Given the description of an element on the screen output the (x, y) to click on. 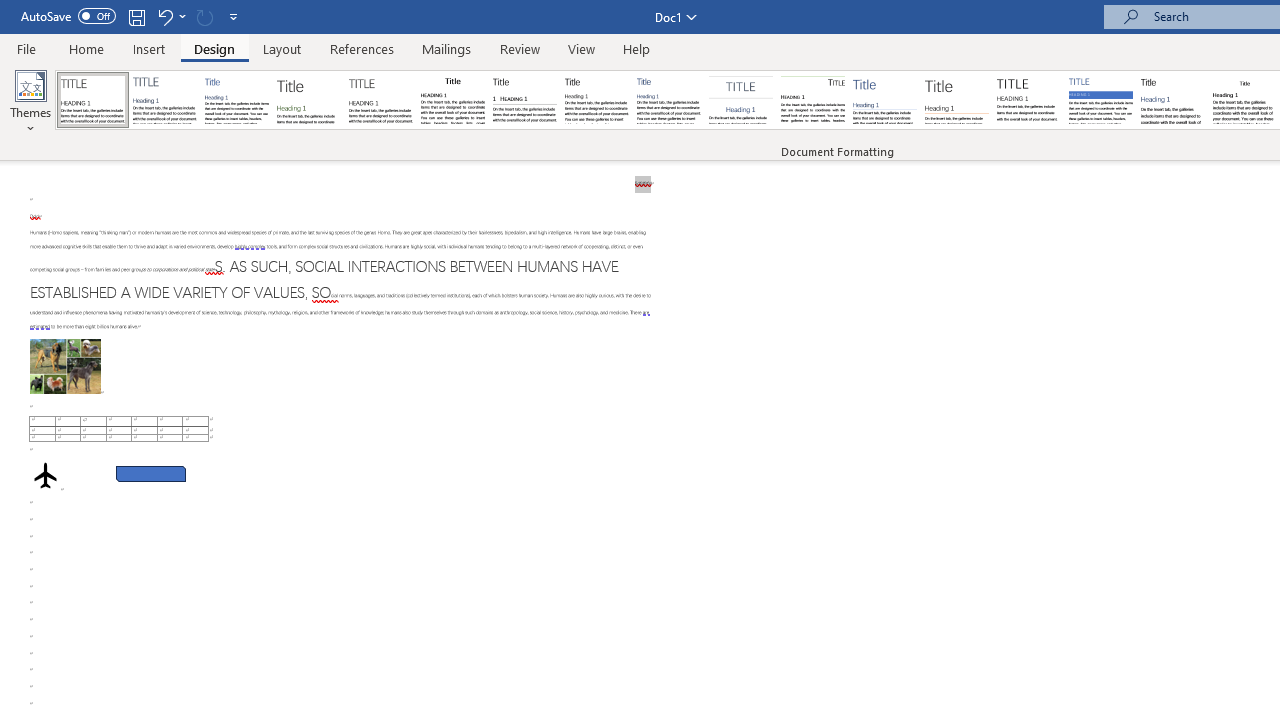
Lines (Stylish) (957, 100)
Undo Paragraph Alignment (164, 15)
Lines (Distinctive) (812, 100)
Undo Paragraph Alignment (170, 15)
Casual (669, 100)
Word (1172, 100)
Shaded (1100, 100)
Basic (Simple) (236, 100)
Morphological variation in six dogs (65, 366)
